Given the description of an element on the screen output the (x, y) to click on. 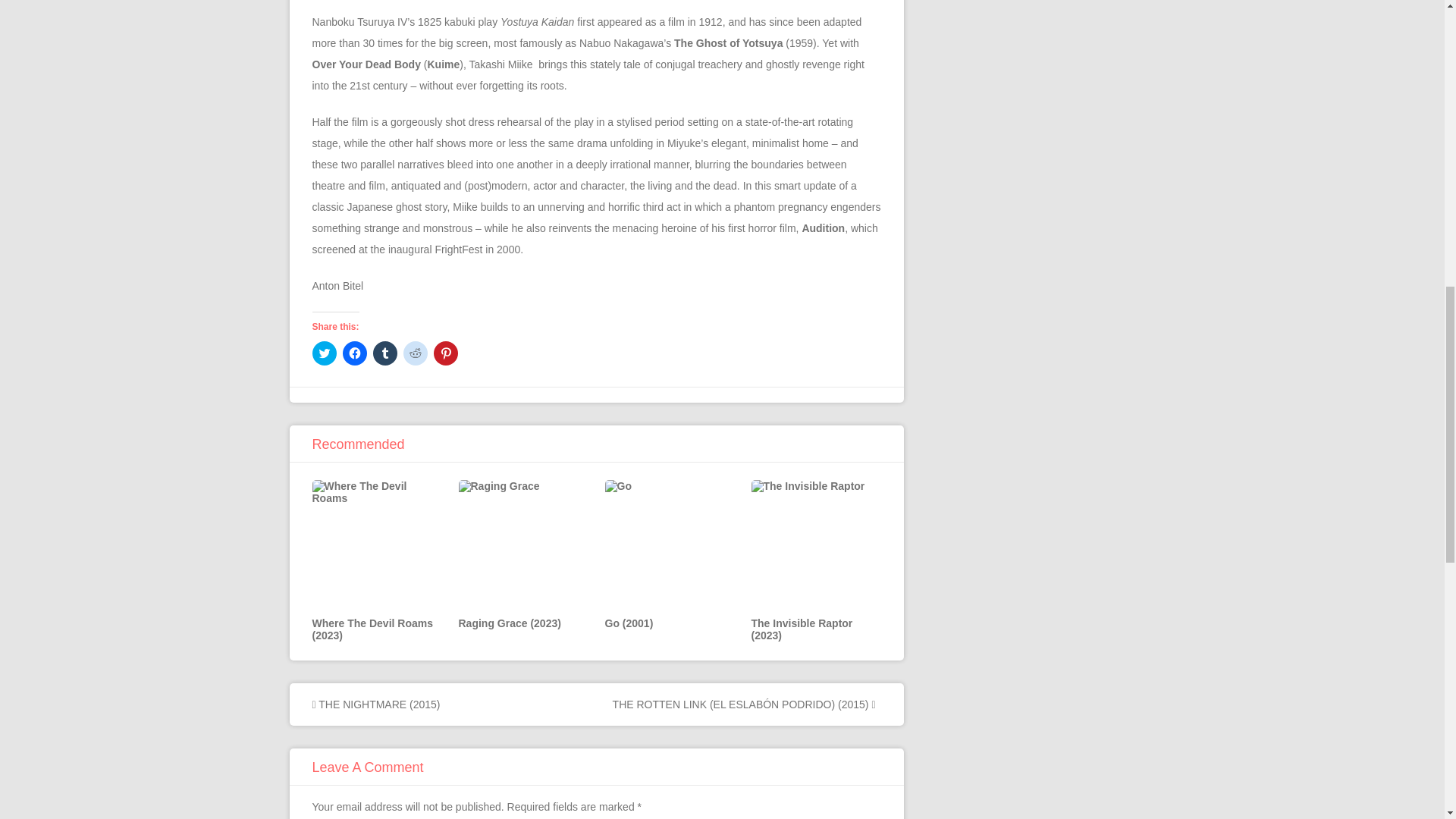
Click to share on Twitter (324, 353)
Click to share on Pinterest (445, 353)
Click to share on Reddit (415, 353)
Click to share on Tumblr (384, 353)
Click to share on Facebook (354, 353)
